Given the description of an element on the screen output the (x, y) to click on. 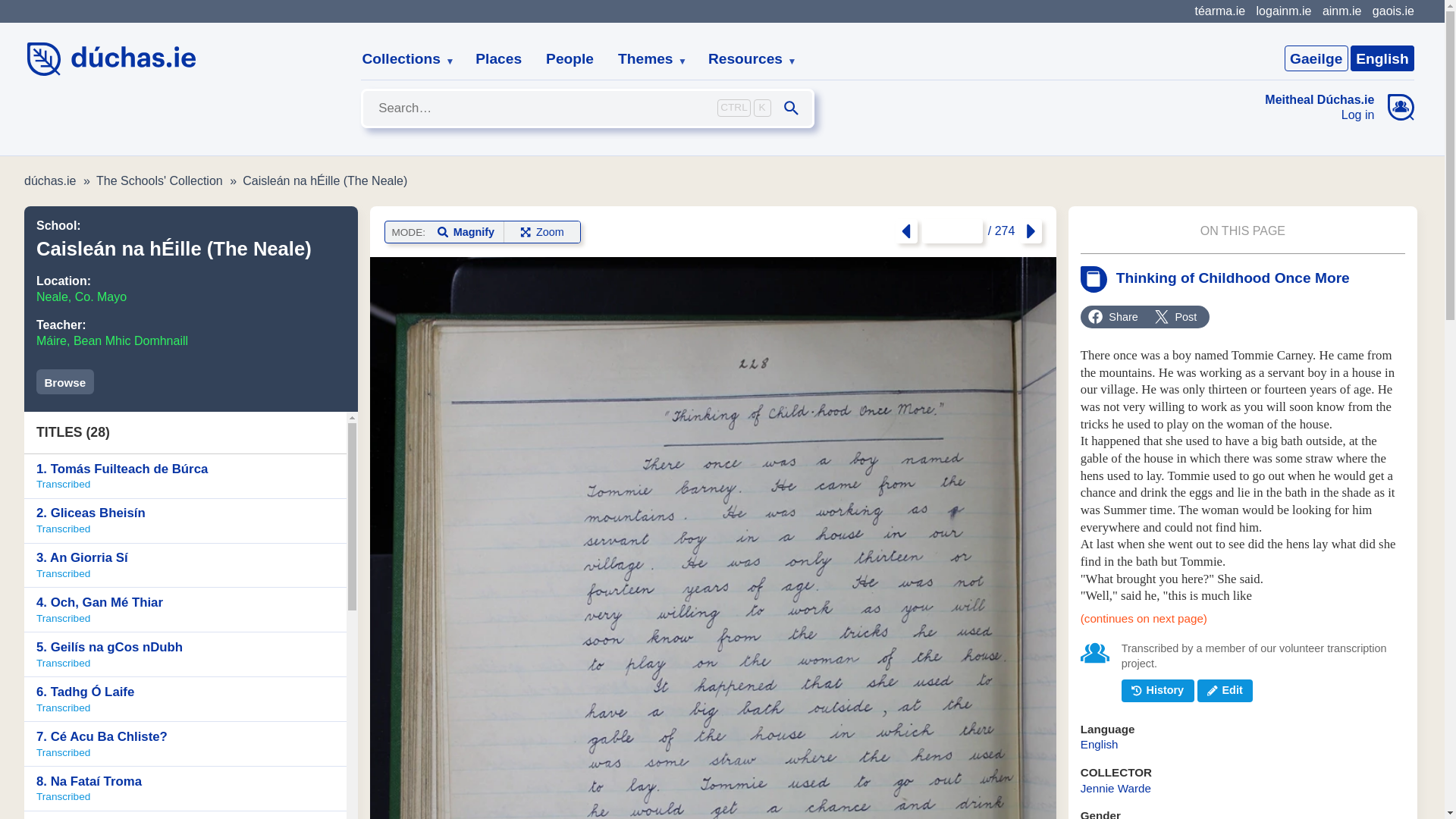
Resources (745, 59)
gaois.ie (1393, 11)
Log in (1319, 114)
People (569, 58)
Collections (401, 59)
Gaeilge (1316, 58)
The Schools' Collection (159, 180)
English (1382, 58)
logainm.ie (1283, 11)
Neale, Co. Mayo (81, 296)
Places (498, 58)
Themes (646, 59)
Browse (65, 381)
ainm.ie (1341, 11)
